Given the description of an element on the screen output the (x, y) to click on. 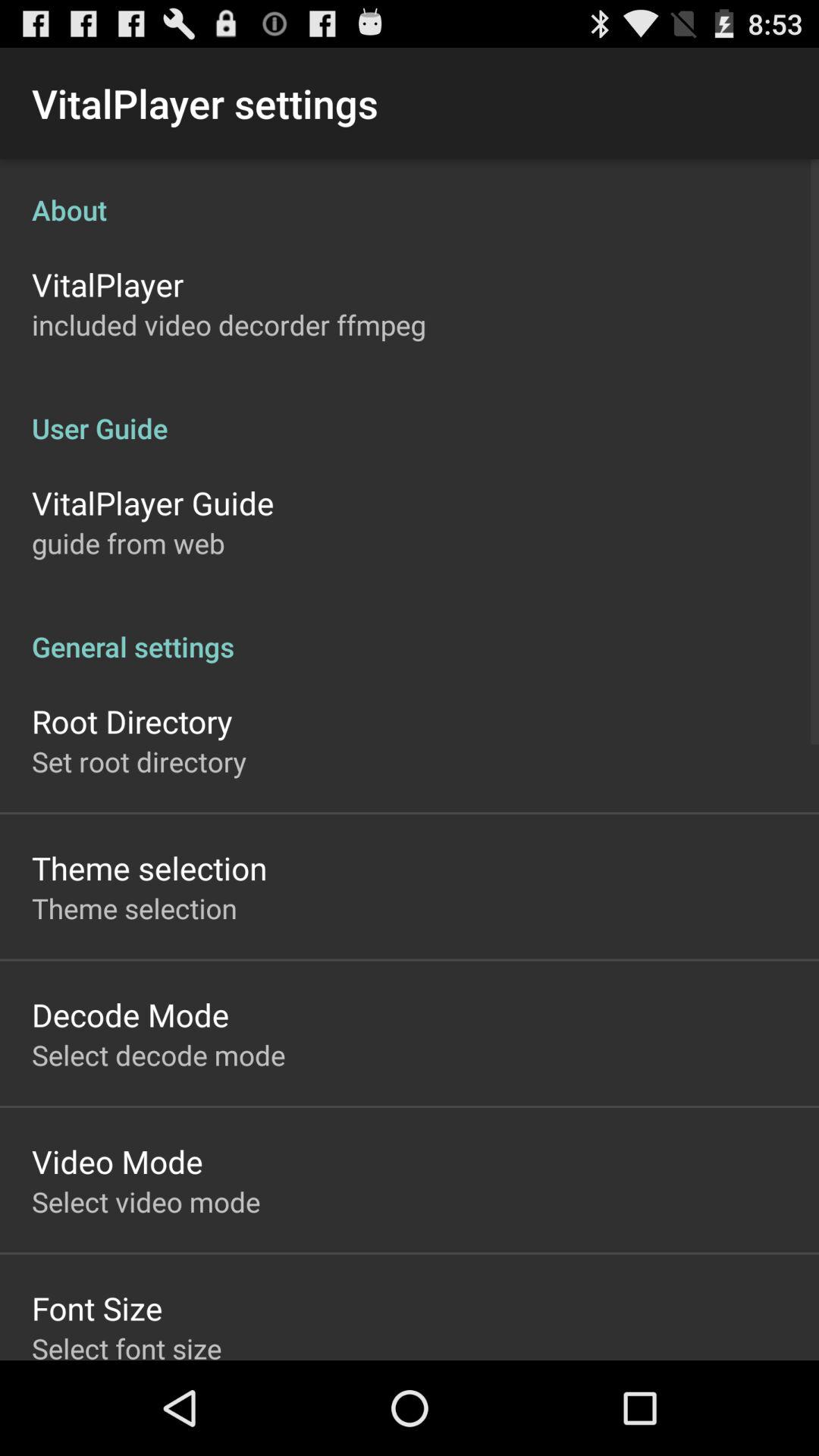
choose the icon below the vitalplayer settings (409, 193)
